Given the description of an element on the screen output the (x, y) to click on. 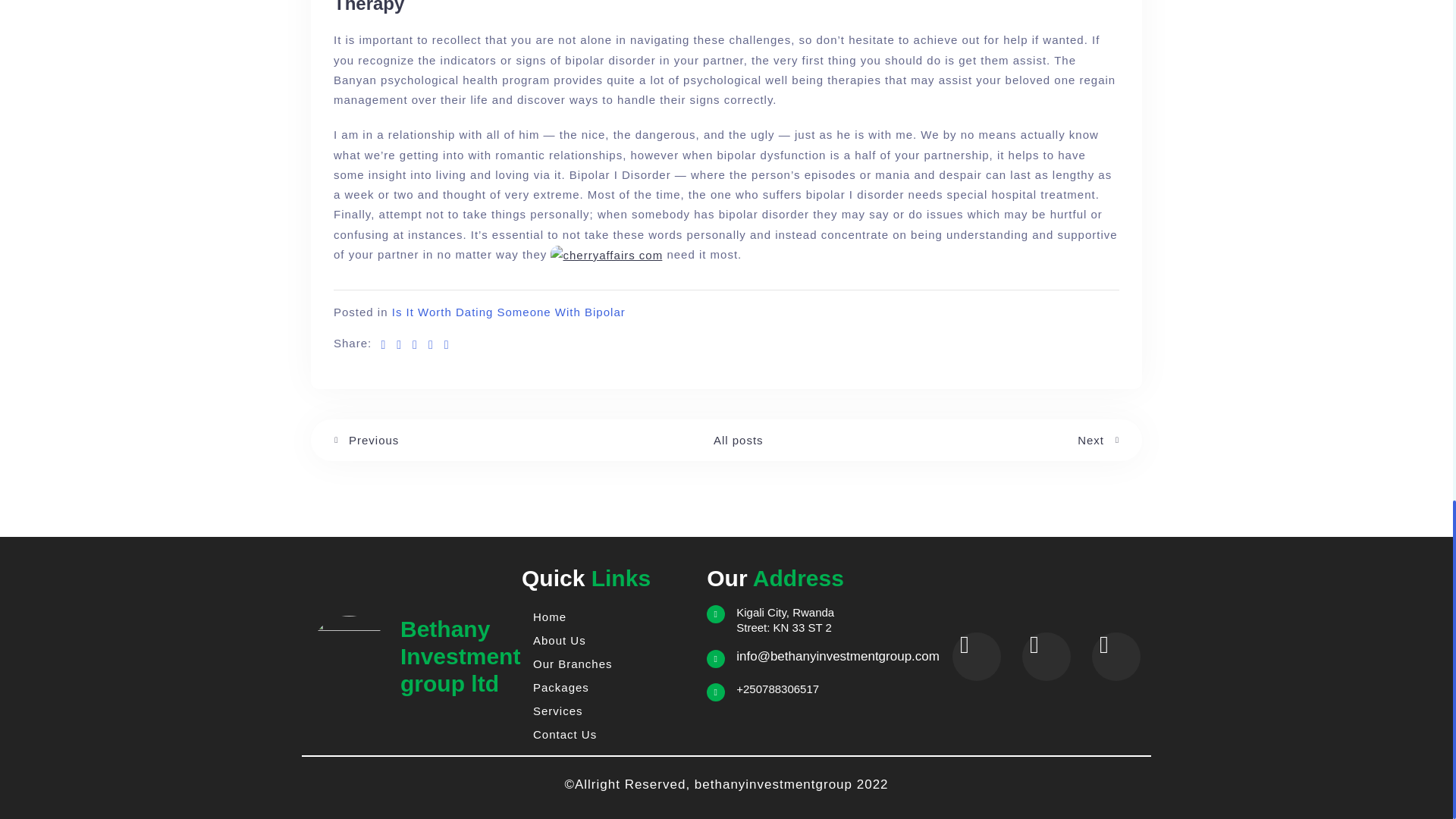
Bethany Investment group ltd (459, 656)
Is It Worth Dating Someone With Bipolar (508, 311)
All posts (737, 440)
Packages (606, 687)
Home (606, 616)
Our Branches (606, 663)
About Us (606, 639)
Next (1098, 440)
Previous (365, 440)
